Given the description of an element on the screen output the (x, y) to click on. 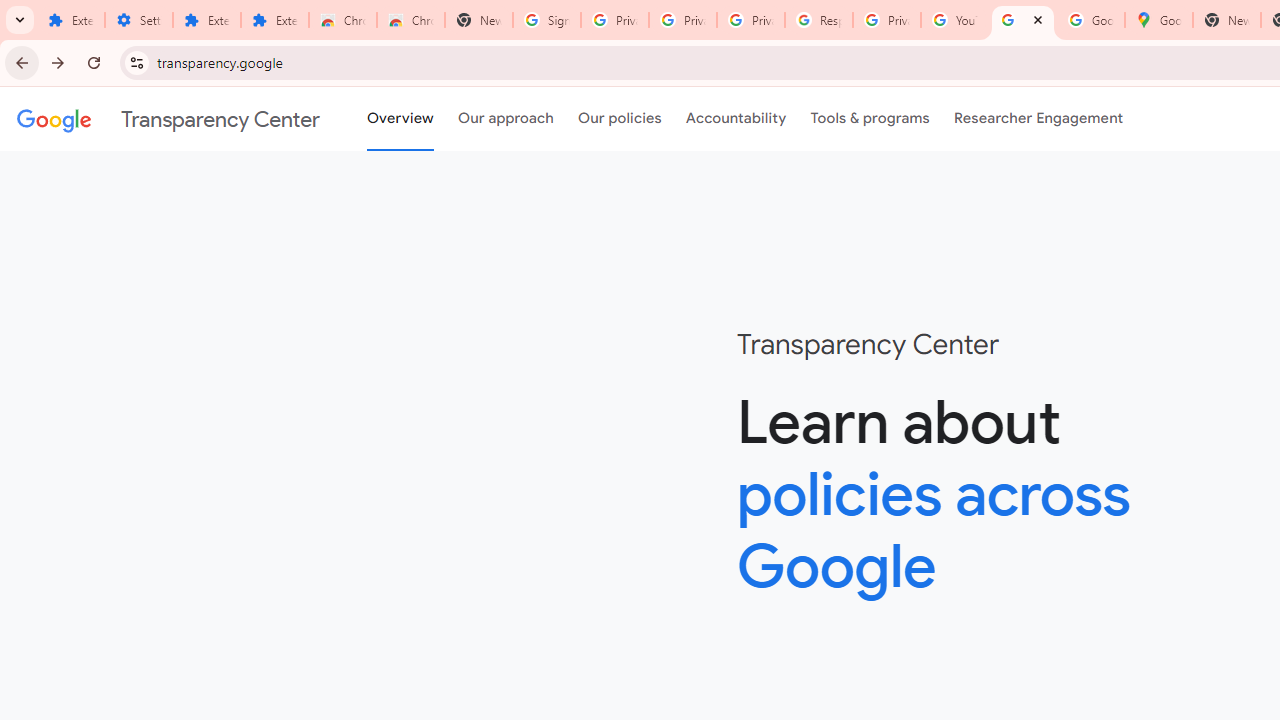
Chrome Web Store (342, 20)
New Tab (1226, 20)
Tools & programs (869, 119)
Sign in - Google Accounts (547, 20)
Google Maps (1158, 20)
